Given the description of an element on the screen output the (x, y) to click on. 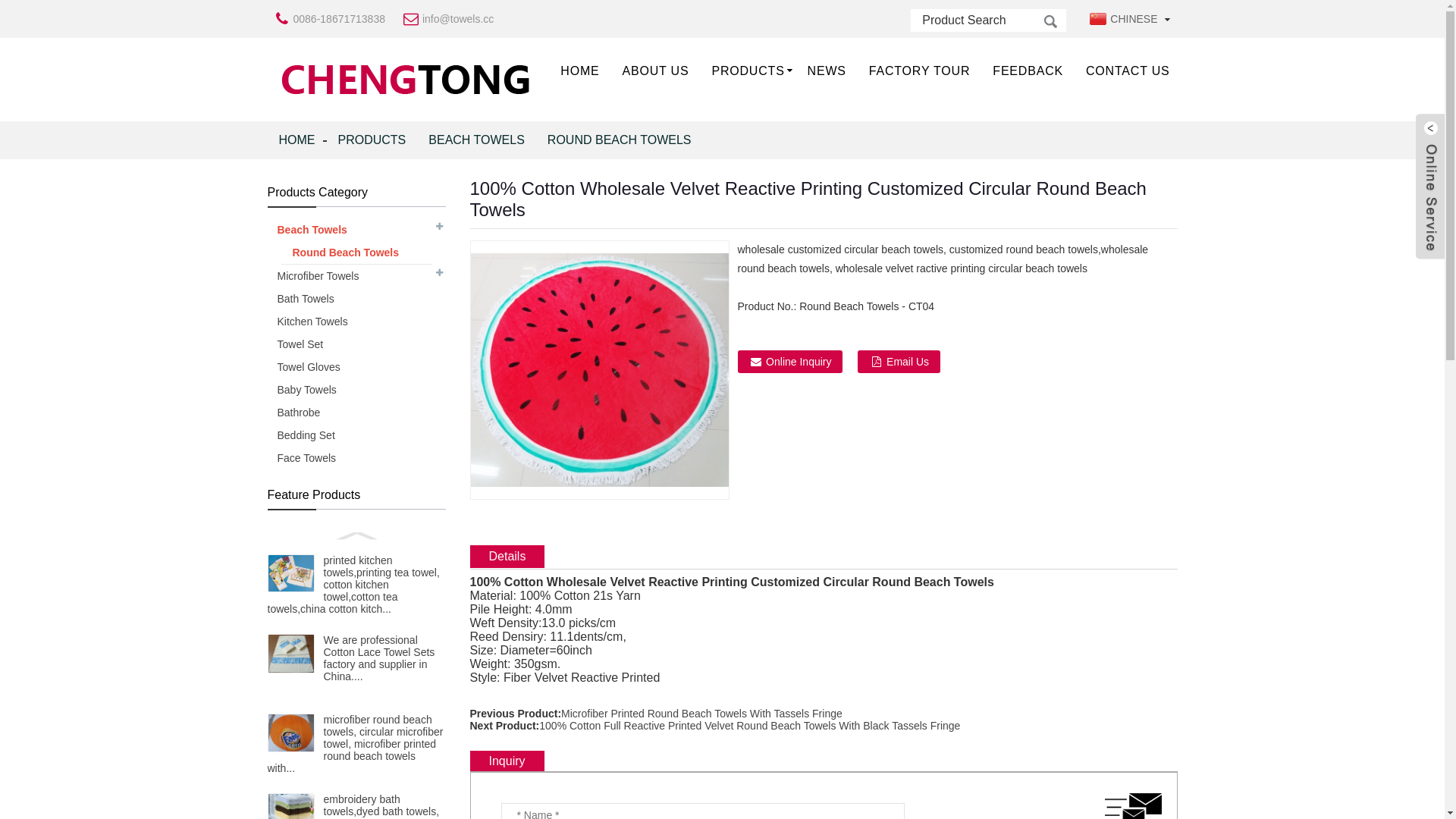
FACTORY TOUR Element type: text (919, 70)
Towel Gloves Element type: text (355, 366)
Bathrobe Element type: text (355, 412)
Email Us Element type: text (898, 361)
Online Inquiry Element type: text (789, 361)
NEWS Element type: text (826, 70)
HOME Element type: text (296, 140)
PRODUCTS Element type: text (371, 140)
ROUND BEACH TOWELS Element type: text (619, 140)
Microfiber Printed Round Beach Towels With Tassels Fringe Element type: text (701, 713)
Towel Set Element type: text (355, 343)
FEEDBACK Element type: text (1027, 70)
BEACH TOWELS Element type: text (476, 140)
ABOUT US Element type: text (655, 70)
Face Towels Element type: text (355, 457)
Kitchen Towels Element type: text (355, 321)
Beach Towels Element type: text (355, 229)
Microfiber Towels Element type: text (355, 275)
PRODUCTS Element type: text (747, 70)
Round Beach Towels Element type: text (355, 252)
HOME Element type: text (579, 70)
Bath Towels Element type: text (355, 298)
CHINESE Element type: text (1121, 18)
CONTACT US Element type: text (1127, 70)
info@towels.cc Element type: text (457, 18)
Baby Towels Element type: text (355, 389)
Bedding Set Element type: text (355, 434)
